Given the description of an element on the screen output the (x, y) to click on. 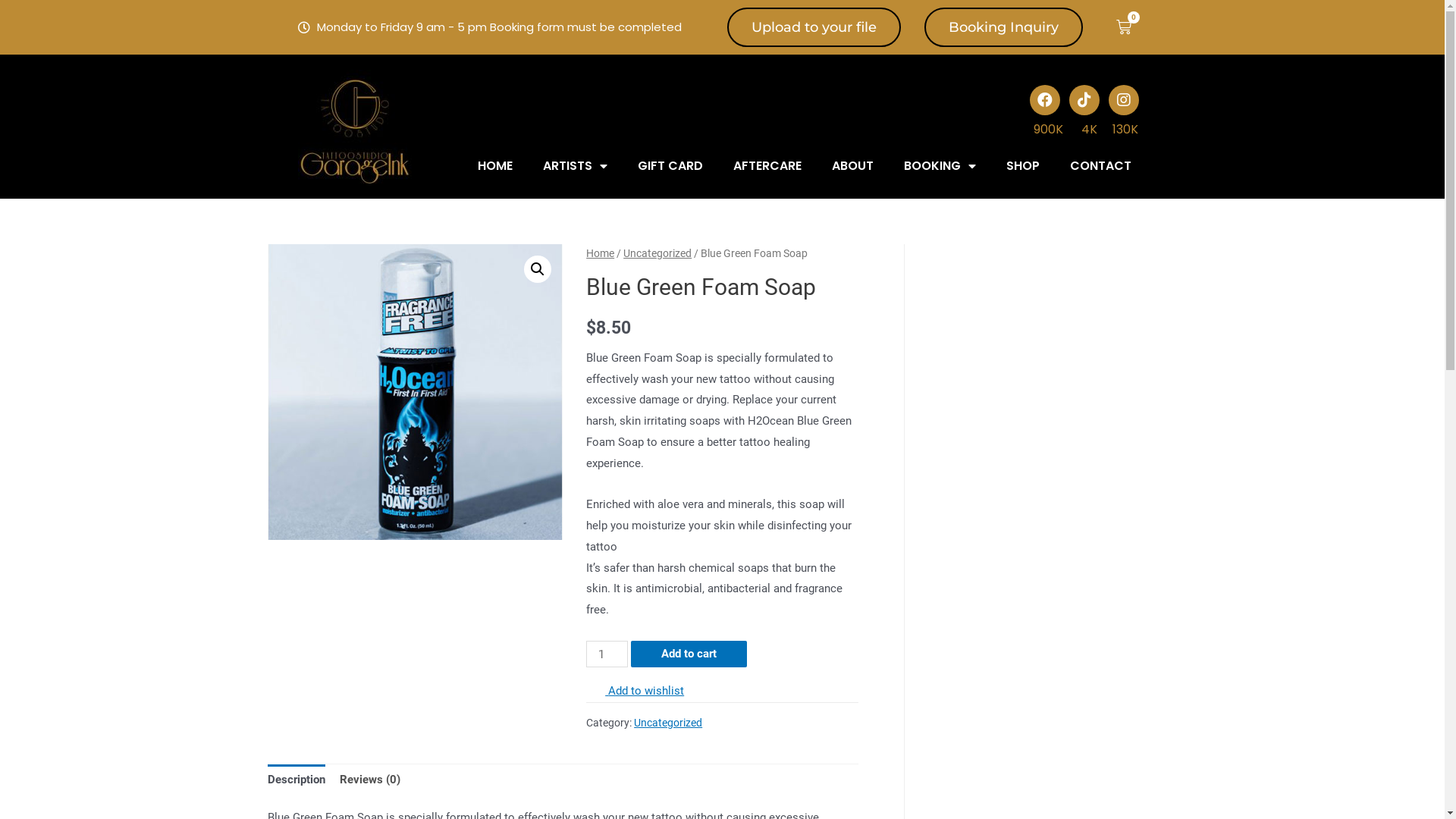
Uncategorized Element type: text (667, 722)
ABOUT Element type: text (852, 165)
Description Element type: text (295, 780)
CONTACT Element type: text (1100, 165)
Qty Element type: hover (606, 653)
BOOKING Element type: text (939, 165)
SHOP Element type: text (1022, 165)
Home Element type: text (600, 253)
Upload to your file Element type: text (813, 27)
Add to cart Element type: text (688, 653)
ARTISTS Element type: text (574, 165)
Add to wishlist Element type: text (635, 690)
AFTERCARE Element type: text (767, 165)
Uncategorized Element type: text (657, 253)
Reviews (0) Element type: text (369, 780)
GIFT CARD Element type: text (670, 165)
Booking Inquiry Element type: text (1003, 27)
HOME Element type: text (494, 165)
p3 Element type: hover (414, 391)
